Given the description of an element on the screen output the (x, y) to click on. 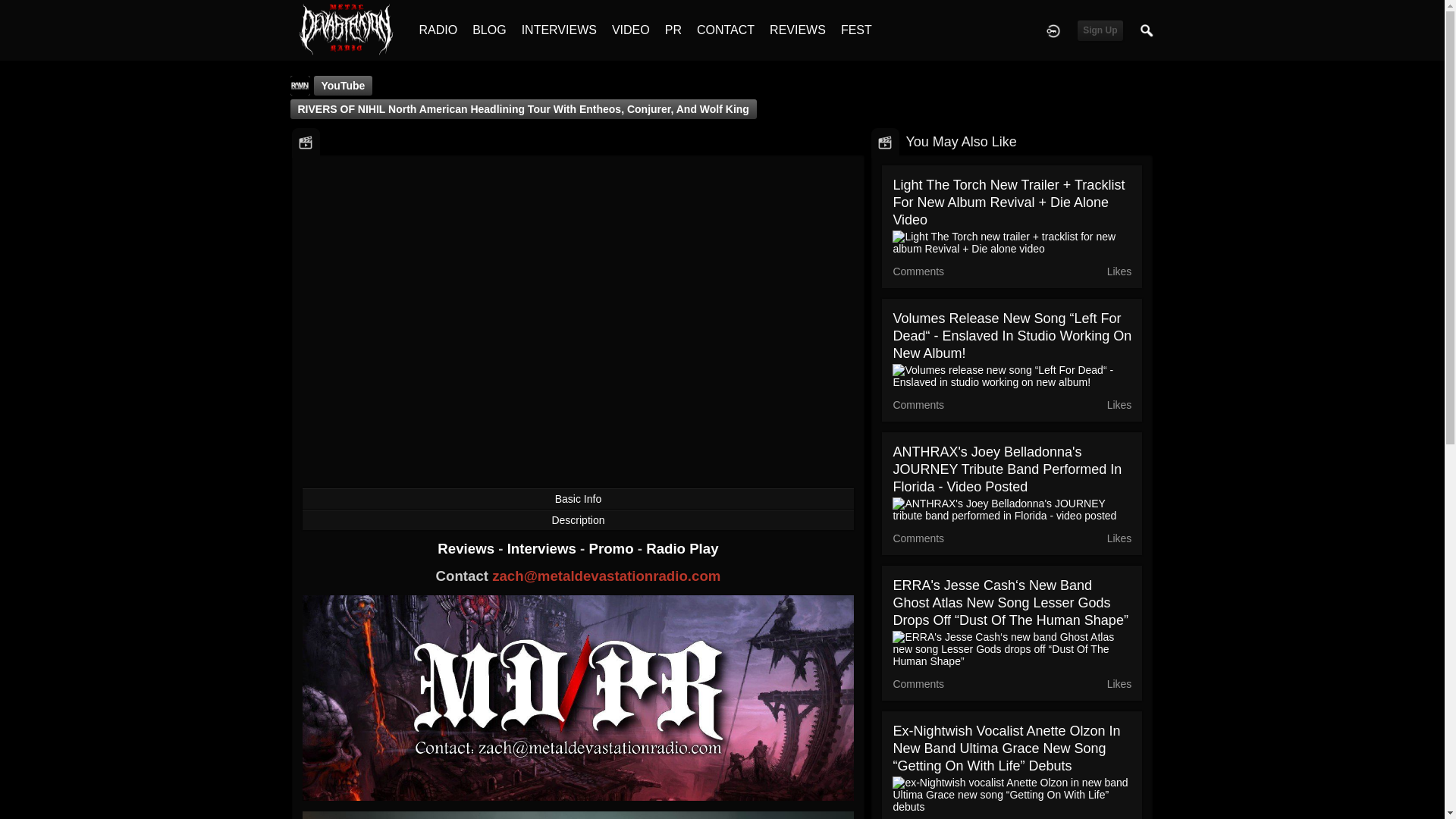
Interviews (542, 548)
Promo (612, 548)
CONTACT (725, 29)
login (1053, 30)
YouTube (343, 85)
Metal Devastation Radio (346, 29)
VIDEO (630, 29)
Radio Play (681, 548)
REVIEWS (797, 29)
